Given the description of an element on the screen output the (x, y) to click on. 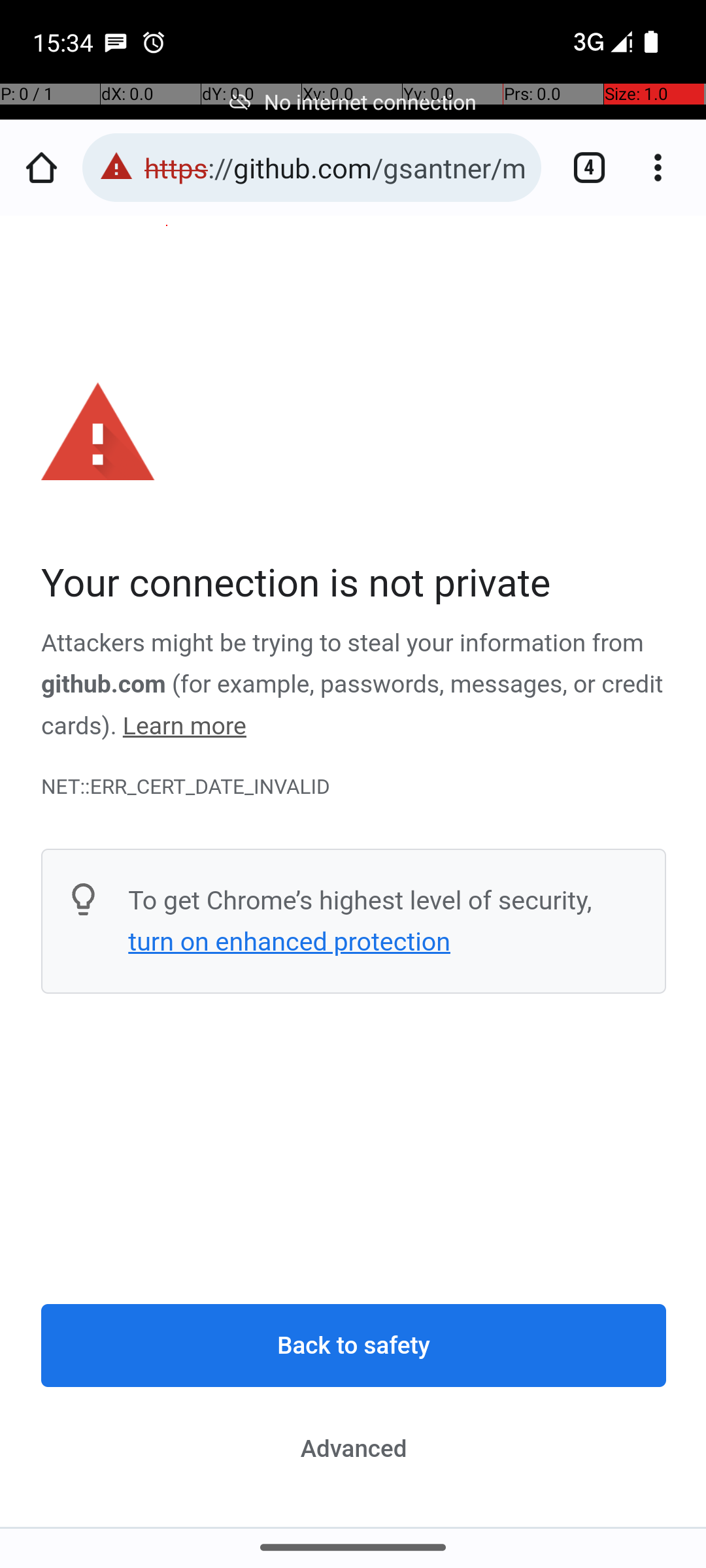
https://github.com/gsantner/markor Element type: android.widget.EditText (335, 167)
